Given the description of an element on the screen output the (x, y) to click on. 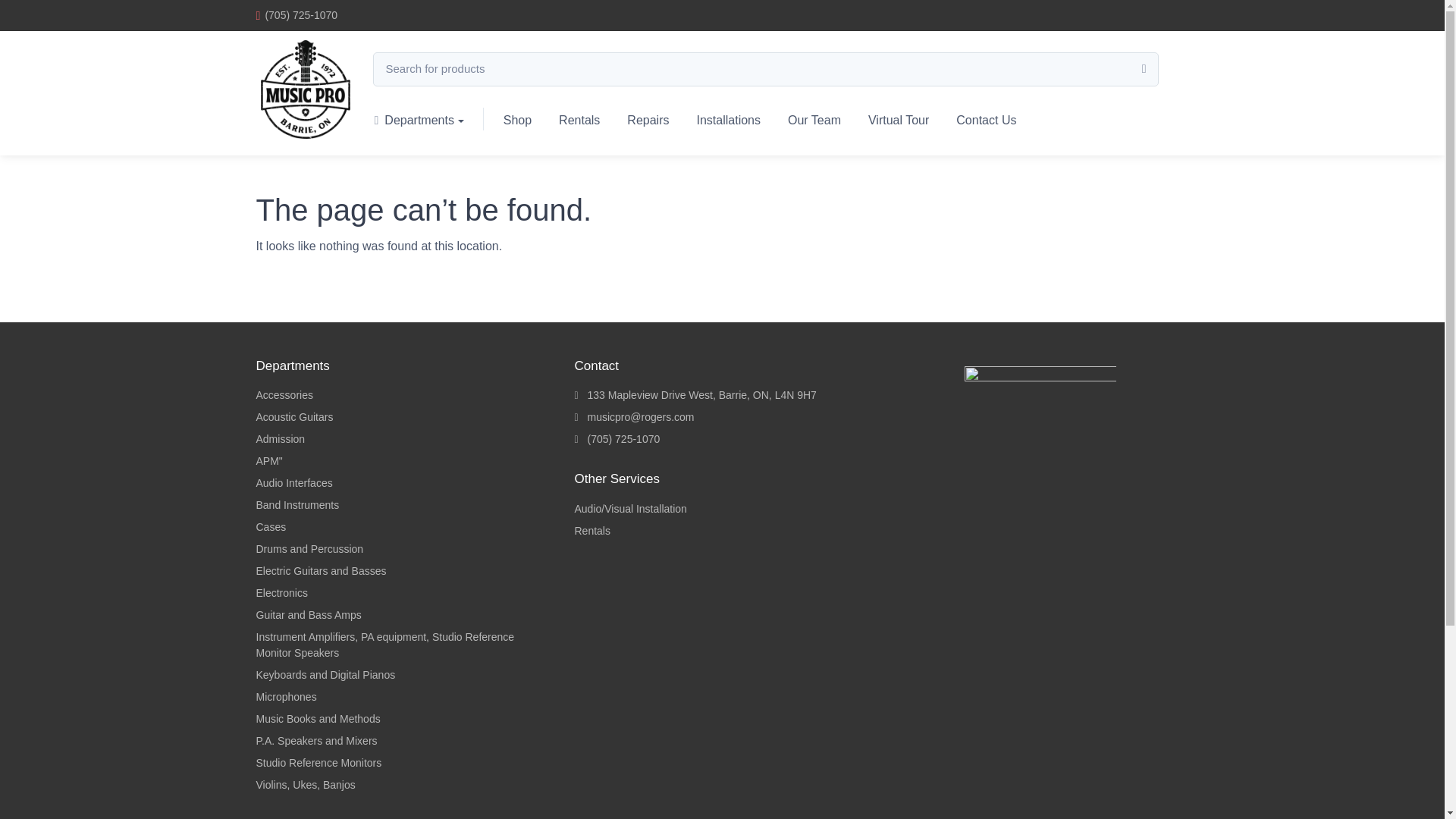
Drums and Percussion (403, 549)
Electric Guitars and Basses (403, 571)
Electronics (403, 593)
Our Team (814, 118)
Guitar and Bass Amps (403, 615)
Rentals (578, 118)
Band Instruments (403, 505)
Contact Us (985, 118)
Cases (403, 527)
Email Us (721, 417)
Admission (403, 439)
APM" (403, 461)
Shop (516, 118)
Installations (728, 118)
Acoustic Guitars (403, 417)
